Given the description of an element on the screen output the (x, y) to click on. 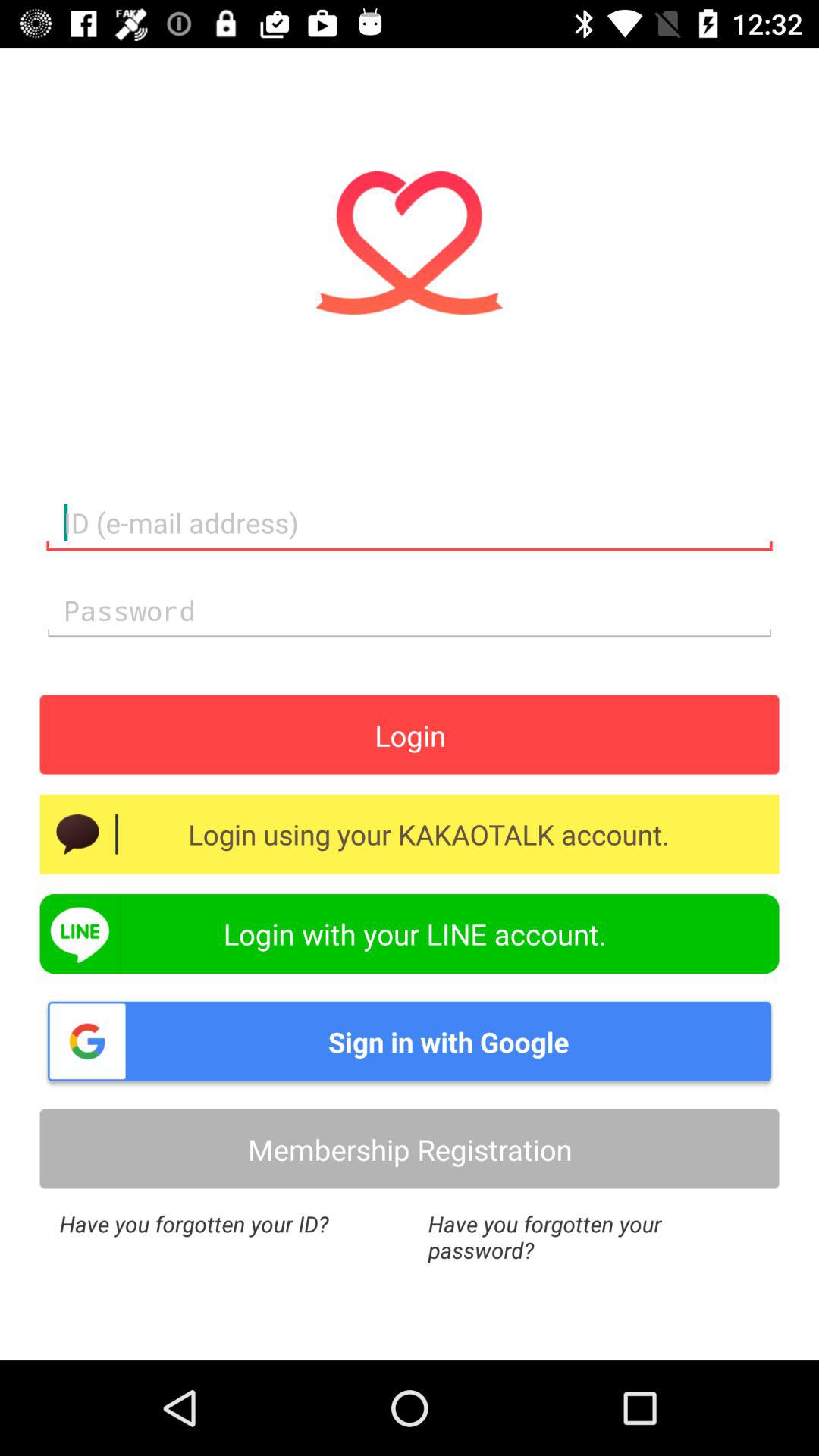
enter id (409, 523)
